Given the description of an element on the screen output the (x, y) to click on. 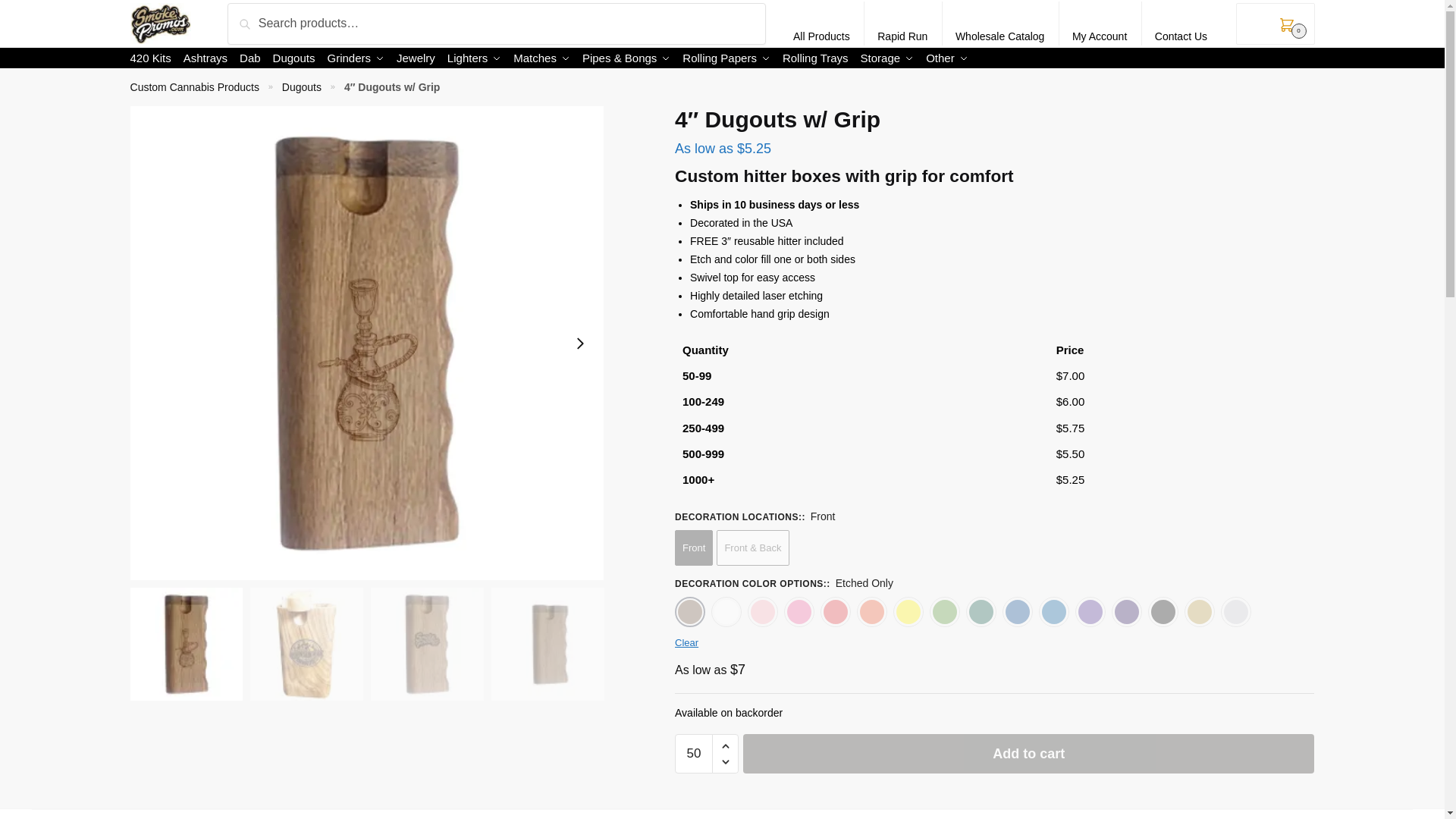
Custom Ashtrays (204, 58)
Contact Us (1181, 23)
Wholesale Catalog (1000, 23)
Custom Dab Accessories (250, 58)
Custom Weed Grinders (355, 58)
Lighters (473, 58)
Custom 420 Kits (154, 58)
Custom Wood Dugouts (293, 58)
My Account (1099, 23)
Dab (250, 58)
Custom Cannabis Jewelry (416, 58)
Search (264, 20)
Contact Information for Smoke Promos (1181, 23)
Products with Fast Fullfilment (902, 23)
All Products (821, 23)
